Given the description of an element on the screen output the (x, y) to click on. 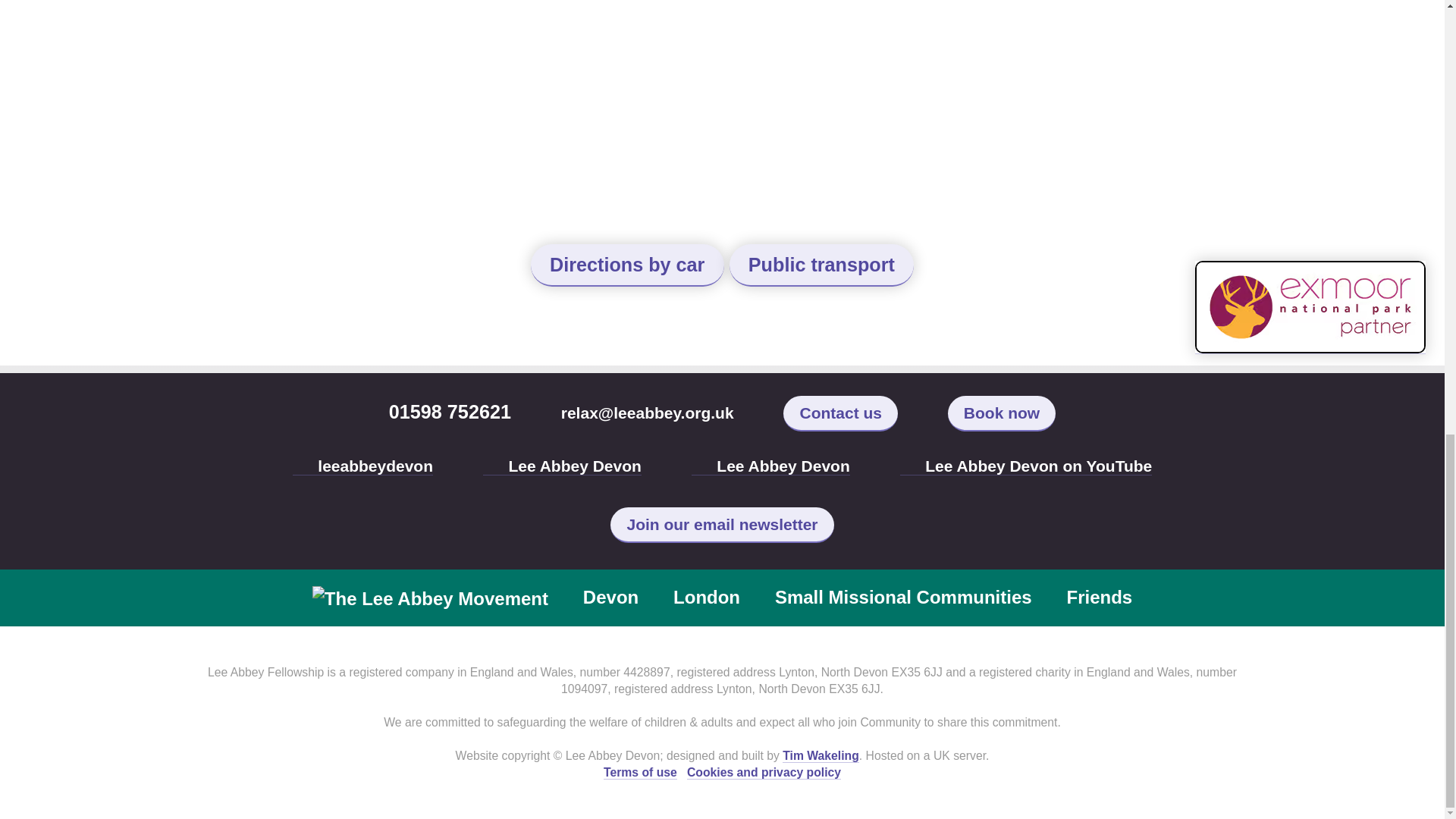
Lee Abbey Devon on Instagram (770, 466)
Lee Abbey Devon on Facebook (562, 466)
Lee Abbey Devon on Facebook (1026, 466)
Lee Abbey Devon on Twitter (362, 466)
Tim Wakeling is a Chester Web designer. (821, 755)
